Given the description of an element on the screen output the (x, y) to click on. 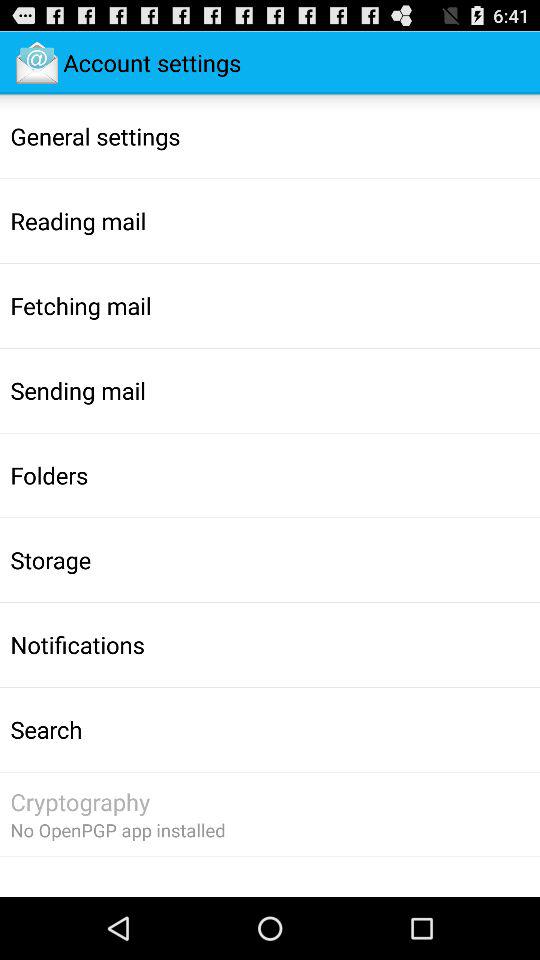
tap the app above no openpgp app item (80, 801)
